Given the description of an element on the screen output the (x, y) to click on. 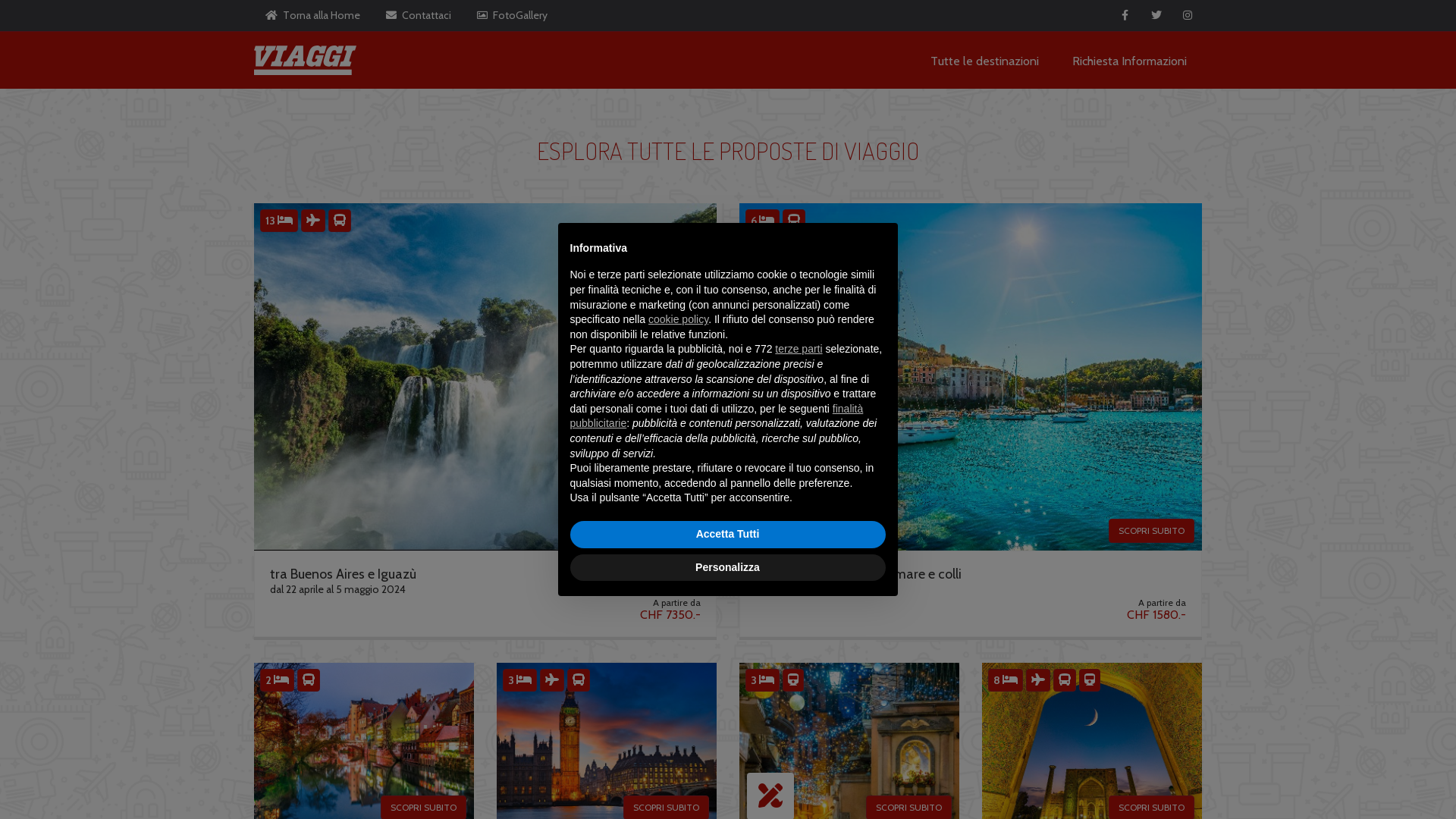
SCOPRI SUBITO Element type: text (666, 530)
FotoGallery Element type: text (511, 15)
terze parti Element type: text (798, 348)
cookie policy Element type: text (679, 319)
Contattaci Element type: text (418, 15)
Accetta Tutti Element type: text (727, 534)
Personalizza Element type: text (727, 567)
Richiesta Informazioni Element type: text (1129, 59)
SCOPRI SUBITO Element type: text (1151, 530)
Tutte le destinazioni Element type: text (984, 59)
Torna alla Home Element type: text (312, 15)
